Given the description of an element on the screen output the (x, y) to click on. 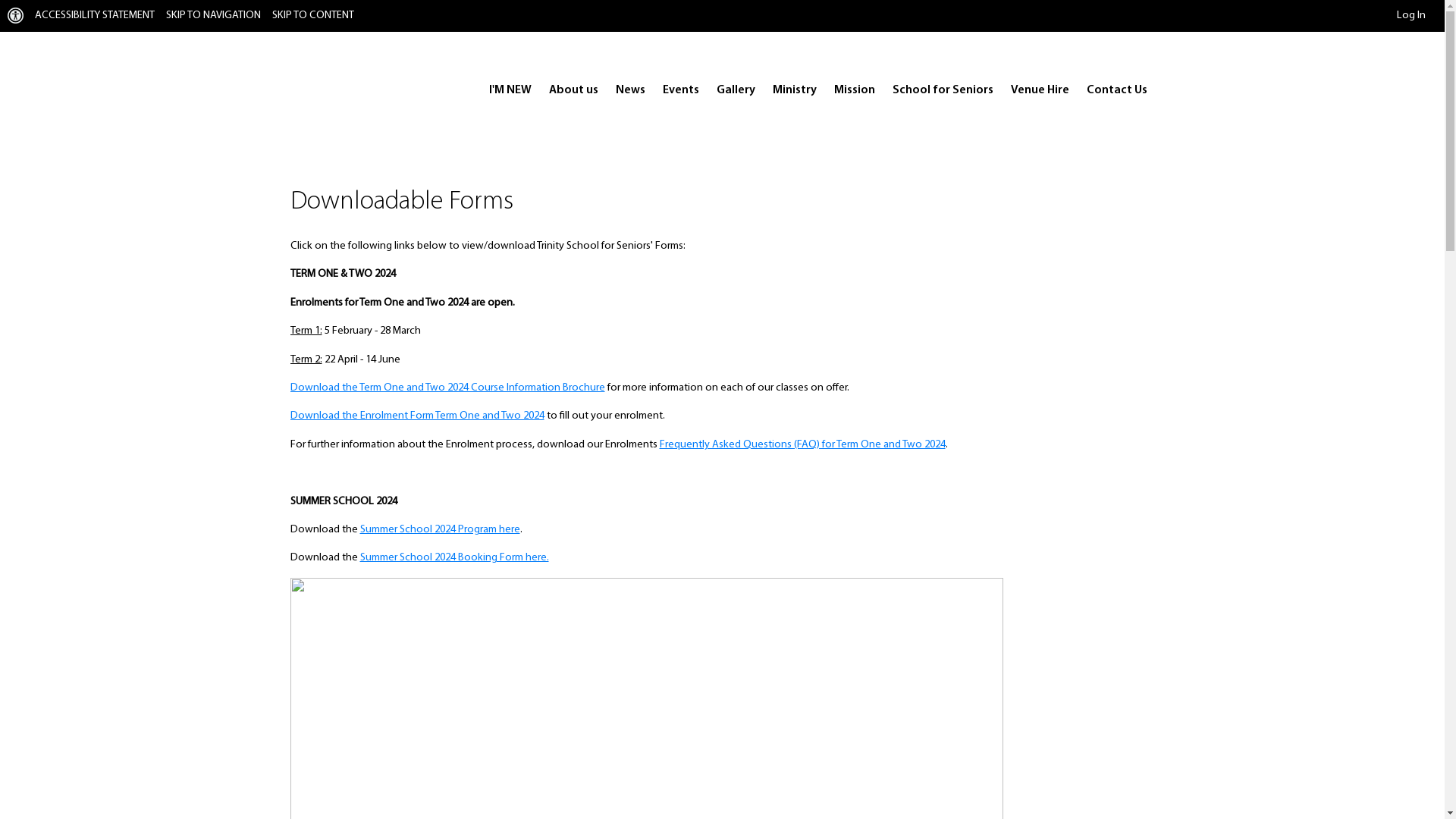
About us Element type: text (573, 89)
School for Seniors Element type: text (942, 89)
Gallery Element type: text (735, 89)
Log In Element type: text (1410, 15)
Frequently Asked Questions (FAQ) for Term One and Two 2024 Element type: text (802, 444)
Venue Hire Element type: text (1039, 89)
Contact Us Element type: text (1116, 89)
Ministry Element type: text (793, 89)
SKIP TO NAVIGATION Element type: text (213, 15)
News Element type: text (630, 89)
Mission Element type: text (854, 89)
Summer School 2024 Program here Element type: text (439, 529)
Events Element type: text (680, 89)
ACCESSIBILITY STATEMENT Element type: text (94, 15)
Download the Enrolment Form Term One and Two 2024 Element type: text (416, 415)
Summer School 2024 Booking Form here. Element type: text (453, 557)
SKIP TO CONTENT Element type: text (313, 15)
I'M NEW Element type: text (509, 89)
